Given the description of an element on the screen output the (x, y) to click on. 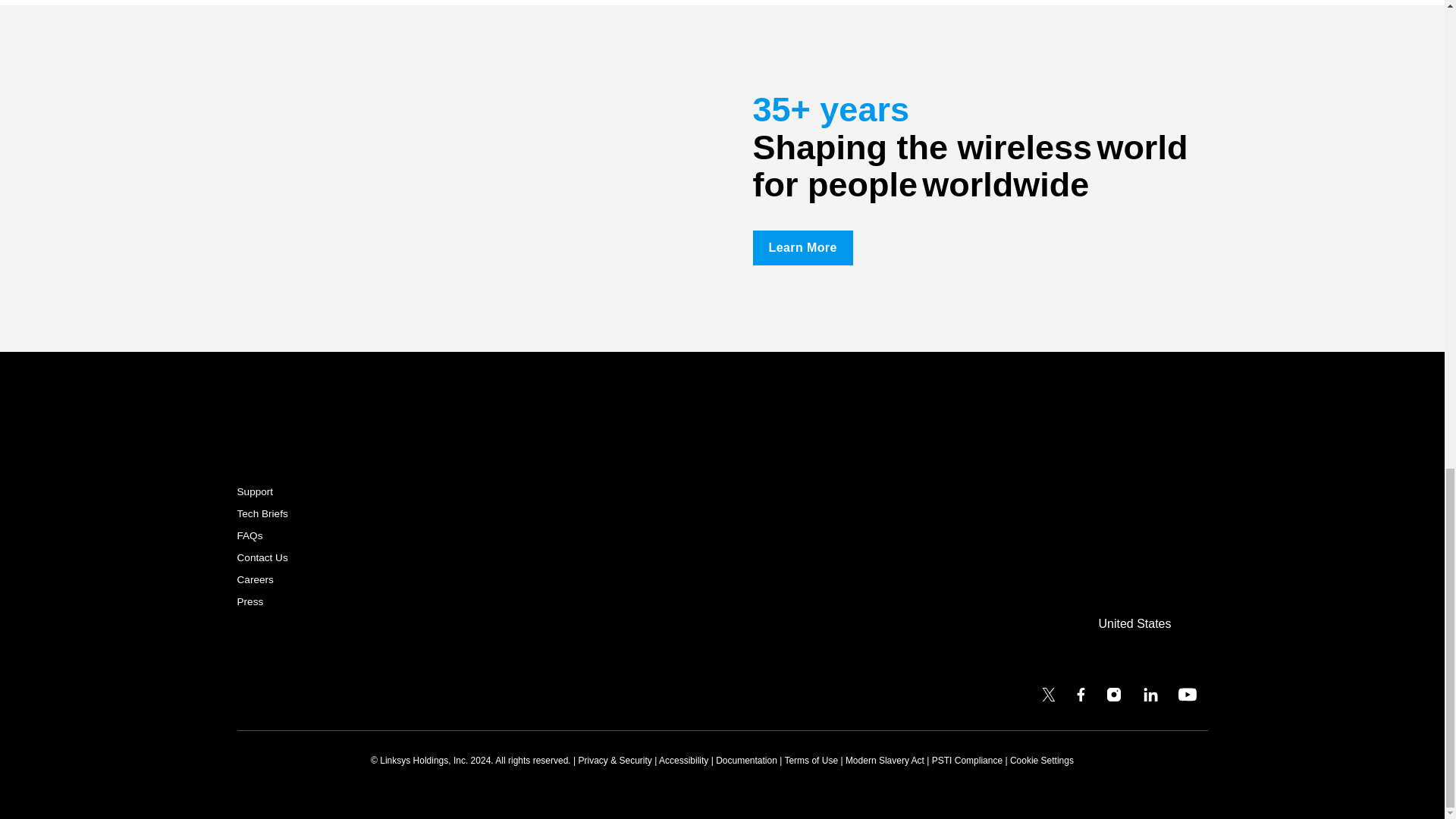
Linksys Shopify on YouTube (1186, 697)
Linksys Shopify on Instagram (1112, 697)
